Given the description of an element on the screen output the (x, y) to click on. 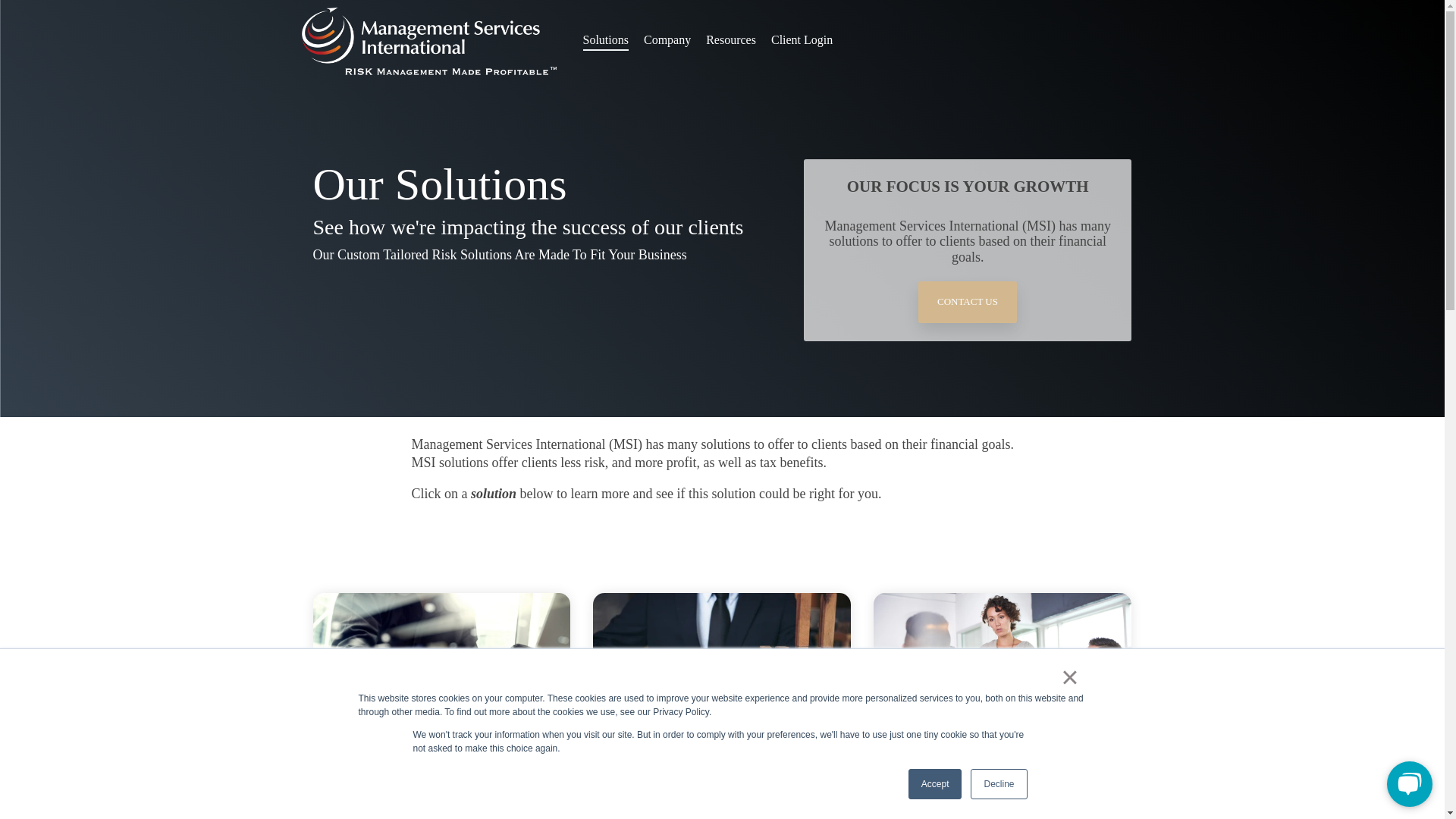
Decline (998, 784)
Company (666, 39)
Solutions (604, 39)
Accept (935, 784)
